Given the description of an element on the screen output the (x, y) to click on. 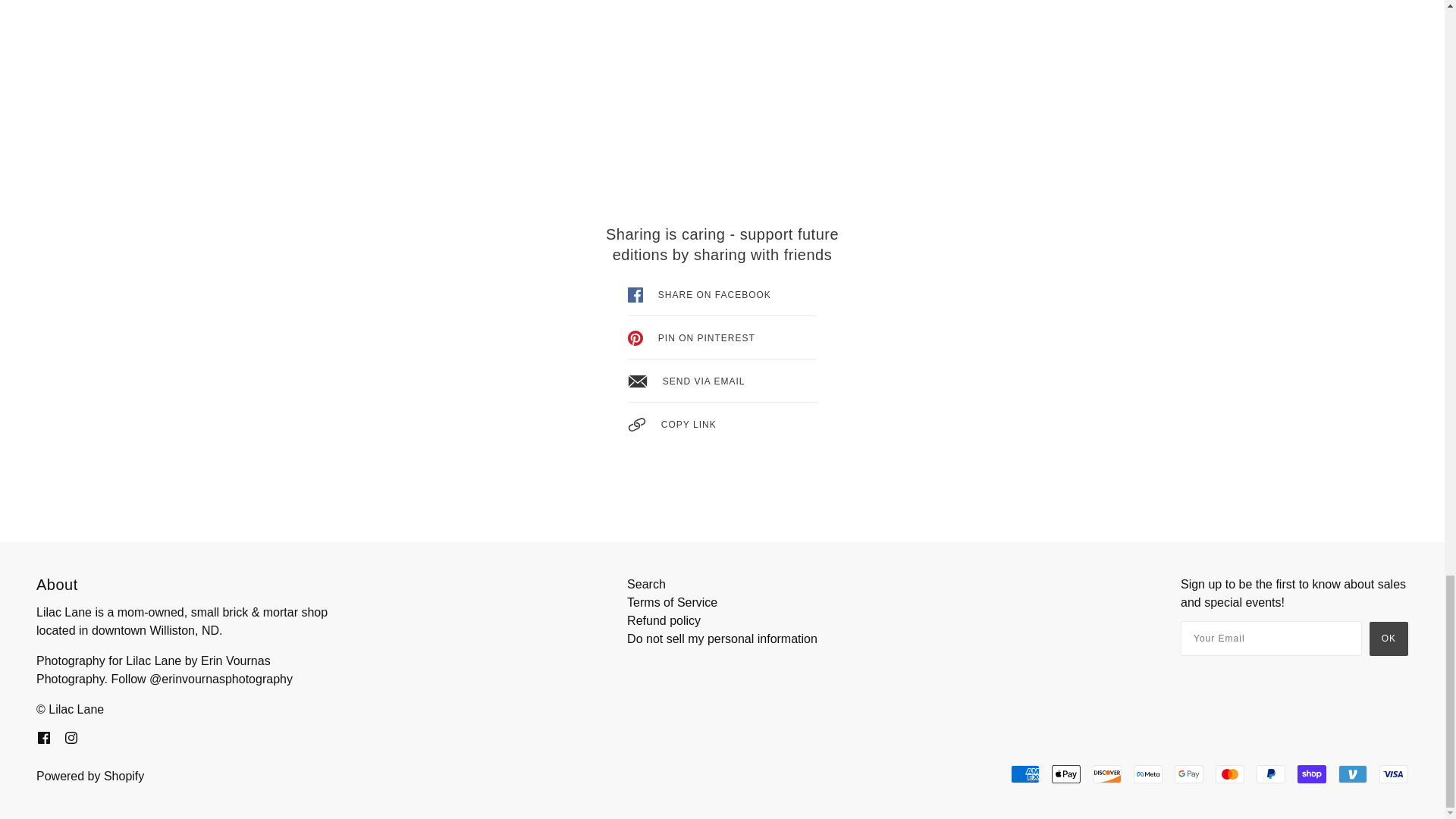
American Express (1024, 773)
Meta Pay (1147, 773)
Discover (1107, 773)
Search (646, 584)
Google Pay (1189, 773)
Do not sell my personal information (721, 638)
Mastercard (1229, 773)
Ok (1388, 638)
Apple Pay (1065, 773)
Shop Pay (1311, 773)
Refund policy (663, 620)
Terms of Service (672, 602)
Venmo (1352, 773)
PayPal (1270, 773)
Visa (1392, 773)
